Given the description of an element on the screen output the (x, y) to click on. 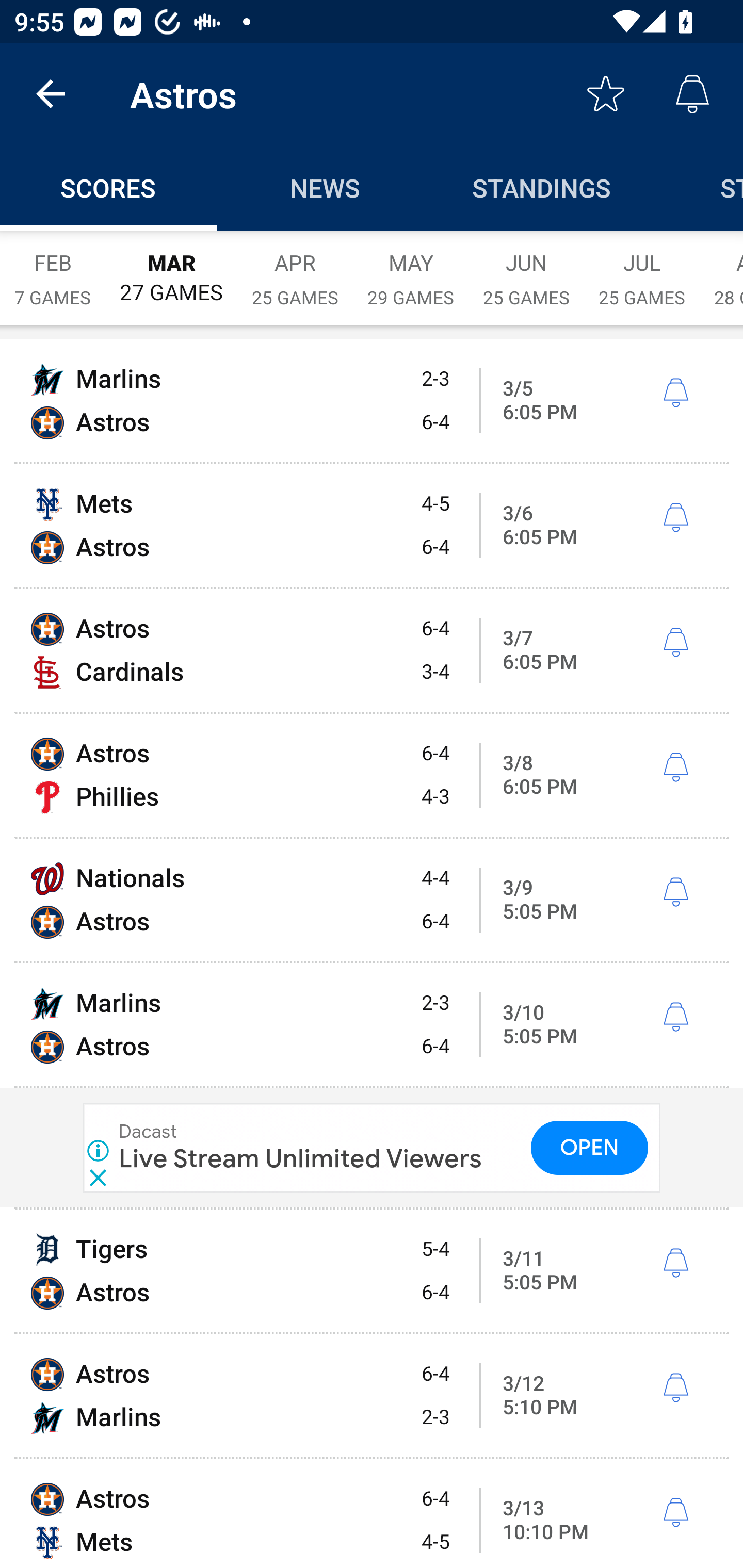
back.button (50, 93)
Favorite toggle (605, 93)
Alerts (692, 93)
News NEWS (324, 187)
Standings STANDINGS (541, 187)
FEB 7 GAMES (52, 268)
MAR 27 GAMES (171, 267)
APR 25 GAMES (294, 268)
MAY 29 GAMES (410, 268)
JUN 25 GAMES (525, 268)
JUL 25 GAMES (641, 268)
Marlins 2-3 Astros 6-4 3/5 6:05 PM í (371, 400)
í (675, 392)
Mets 4-5 Astros 6-4 3/6 6:05 PM í (371, 525)
í (675, 517)
Astros 6-4 Cardinals 3-4 3/7 6:05 PM í (371, 650)
í (675, 642)
Astros 6-4 Phillies 4-3 3/8 6:05 PM í (371, 775)
í (675, 767)
Nationals 4-4 Astros 6-4 3/9 5:05 PM í (371, 899)
í (675, 892)
Marlins 2-3 Astros 6-4 3/10 5:05 PM í (371, 1024)
í (675, 1016)
Dacast (148, 1132)
OPEN (589, 1147)
Live Stream Unlimited Viewers (300, 1158)
Tigers 5-4 Astros 6-4 3/11 5:05 PM í (371, 1270)
í (675, 1262)
Astros 6-4 Marlins 2-3 3/12 5:10 PM í (371, 1395)
í (675, 1388)
Astros 6-4 Mets 4-5 3/13 10:10 PM í (371, 1513)
í (675, 1512)
